Given the description of an element on the screen output the (x, y) to click on. 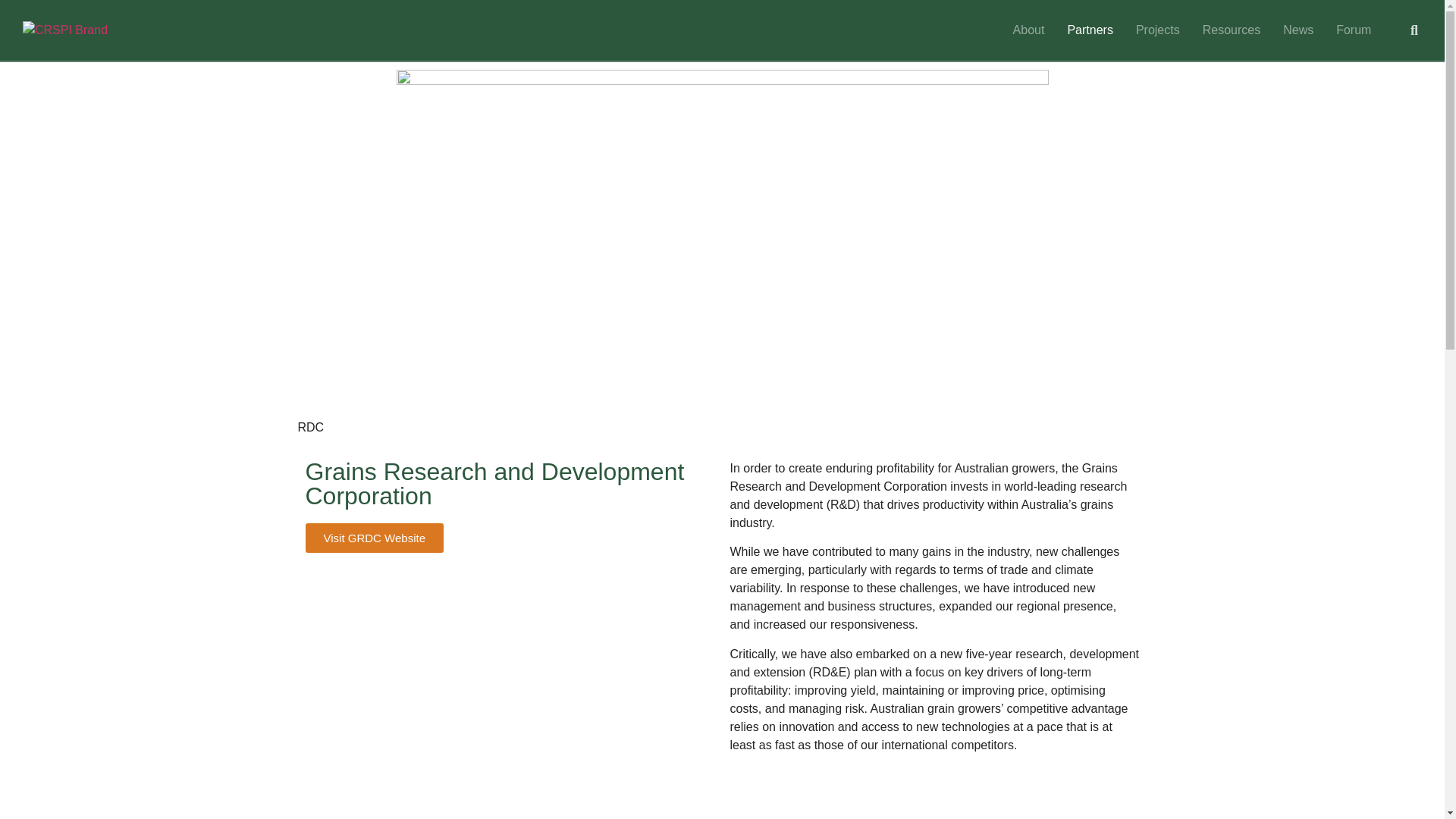
Visit GRDC Website Element type: text (373, 537)
About Element type: text (1028, 30)
crspi-website-assets_reverse Element type: hover (69, 30)
Resources Element type: text (1231, 30)
Top Element type: text (1408, 782)
Projects Element type: text (1157, 30)
News Element type: text (1297, 30)
Forum Element type: text (1353, 30)
Partners Element type: text (1089, 30)
